Given the description of an element on the screen output the (x, y) to click on. 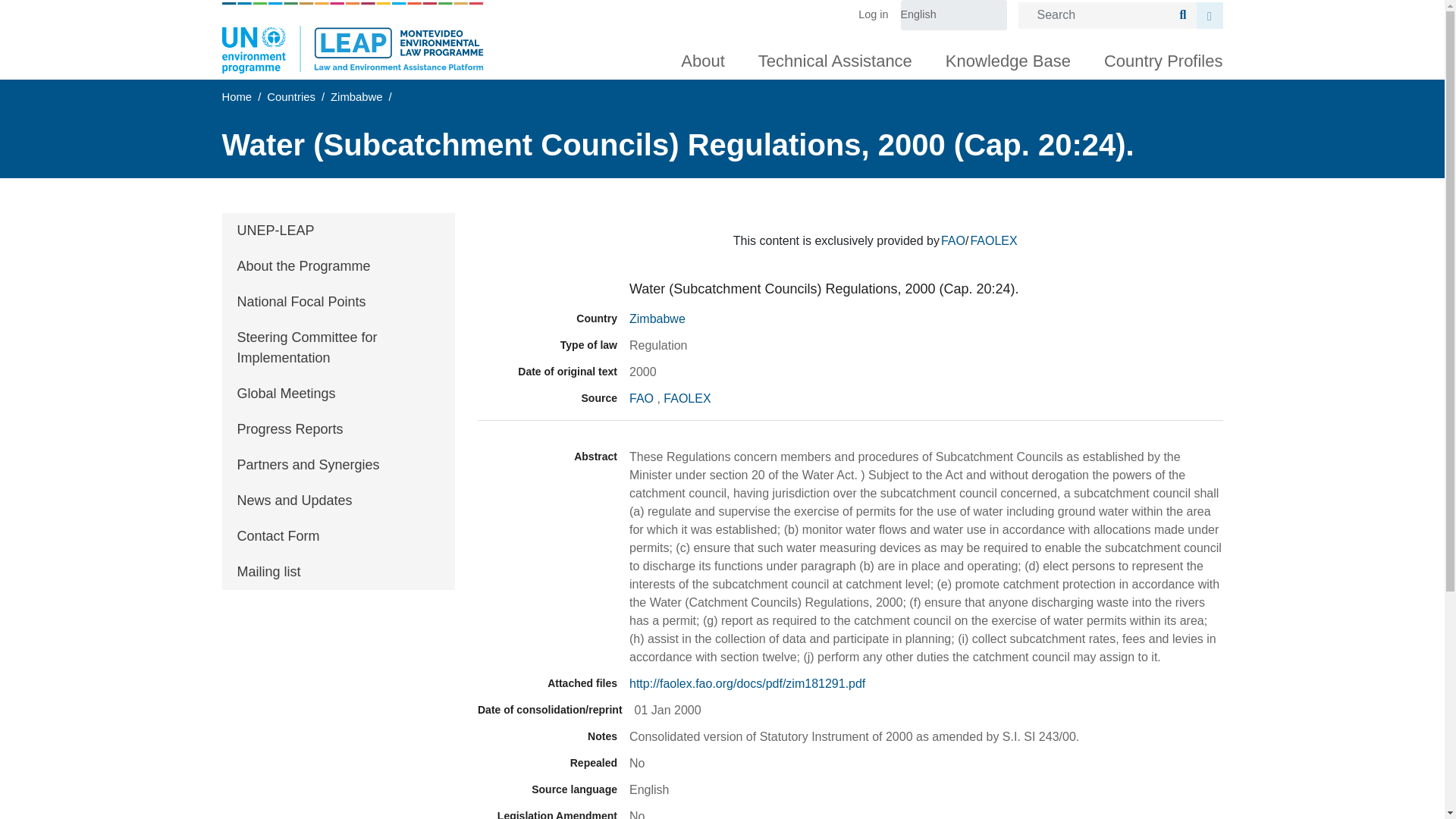
About (702, 57)
Legislation (547, 289)
Technical Assistance (834, 57)
Knowledge Base (1007, 57)
Skip to main content (721, 1)
Log in (879, 14)
Home (352, 37)
